Given the description of an element on the screen output the (x, y) to click on. 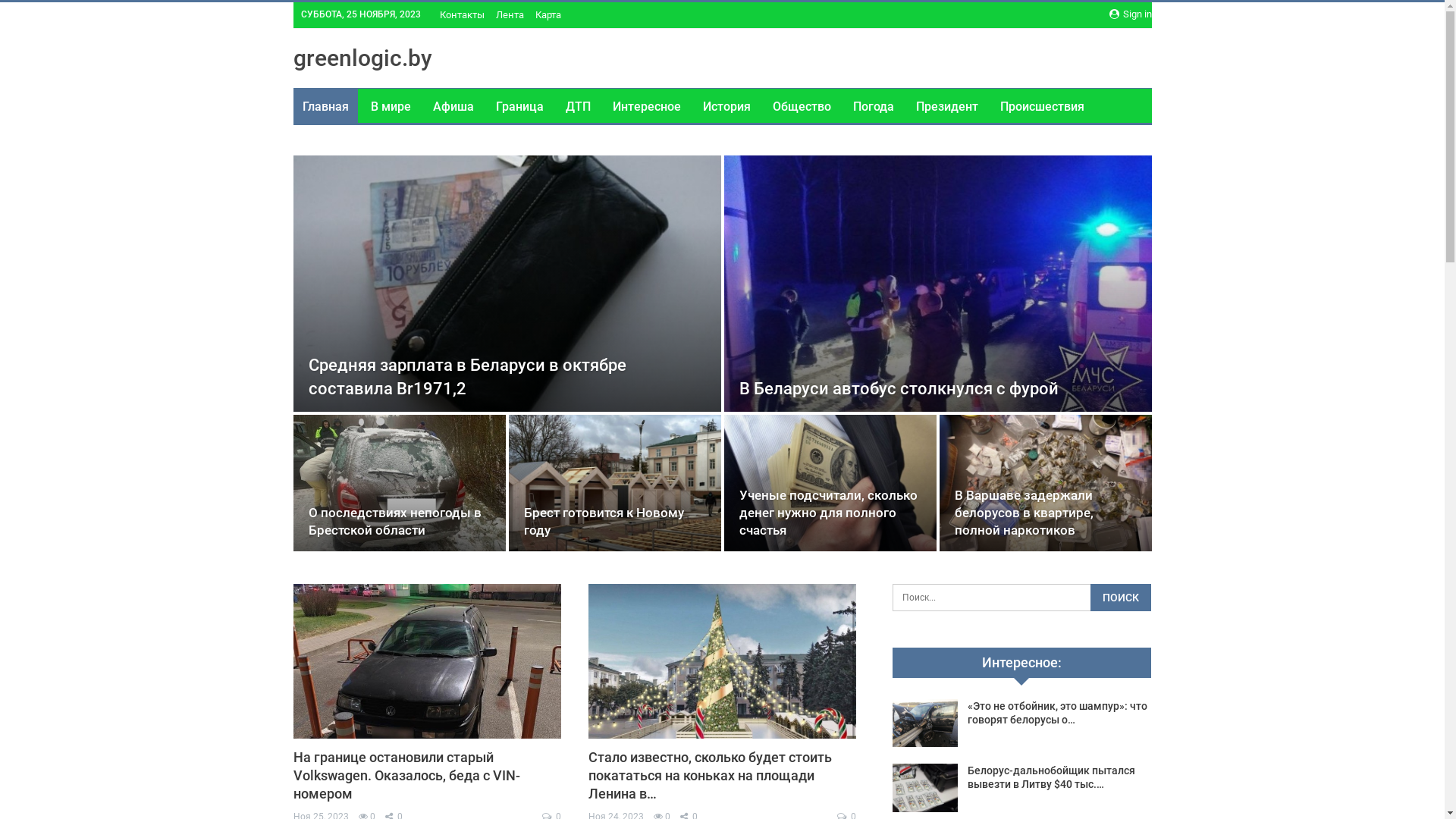
Sign in Element type: text (1129, 14)
greenlogic.by Element type: text (361, 57)
